Given the description of an element on the screen output the (x, y) to click on. 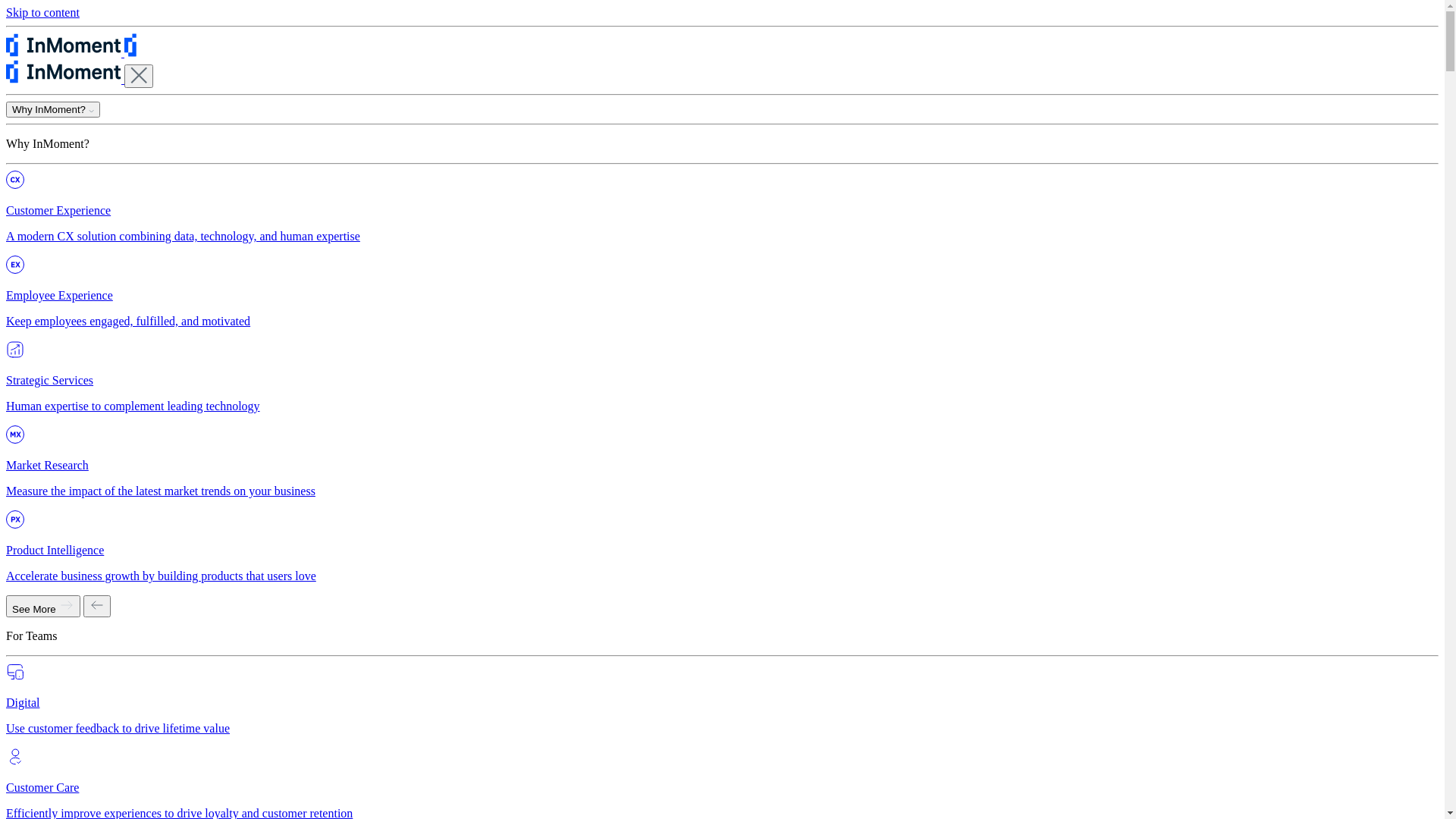
Digital
Use customer feedback to drive lifetime value Element type: text (722, 698)
Why InMoment? Element type: text (53, 109)
Skip to content Element type: text (42, 12)
See More Element type: text (43, 606)
